Given the description of an element on the screen output the (x, y) to click on. 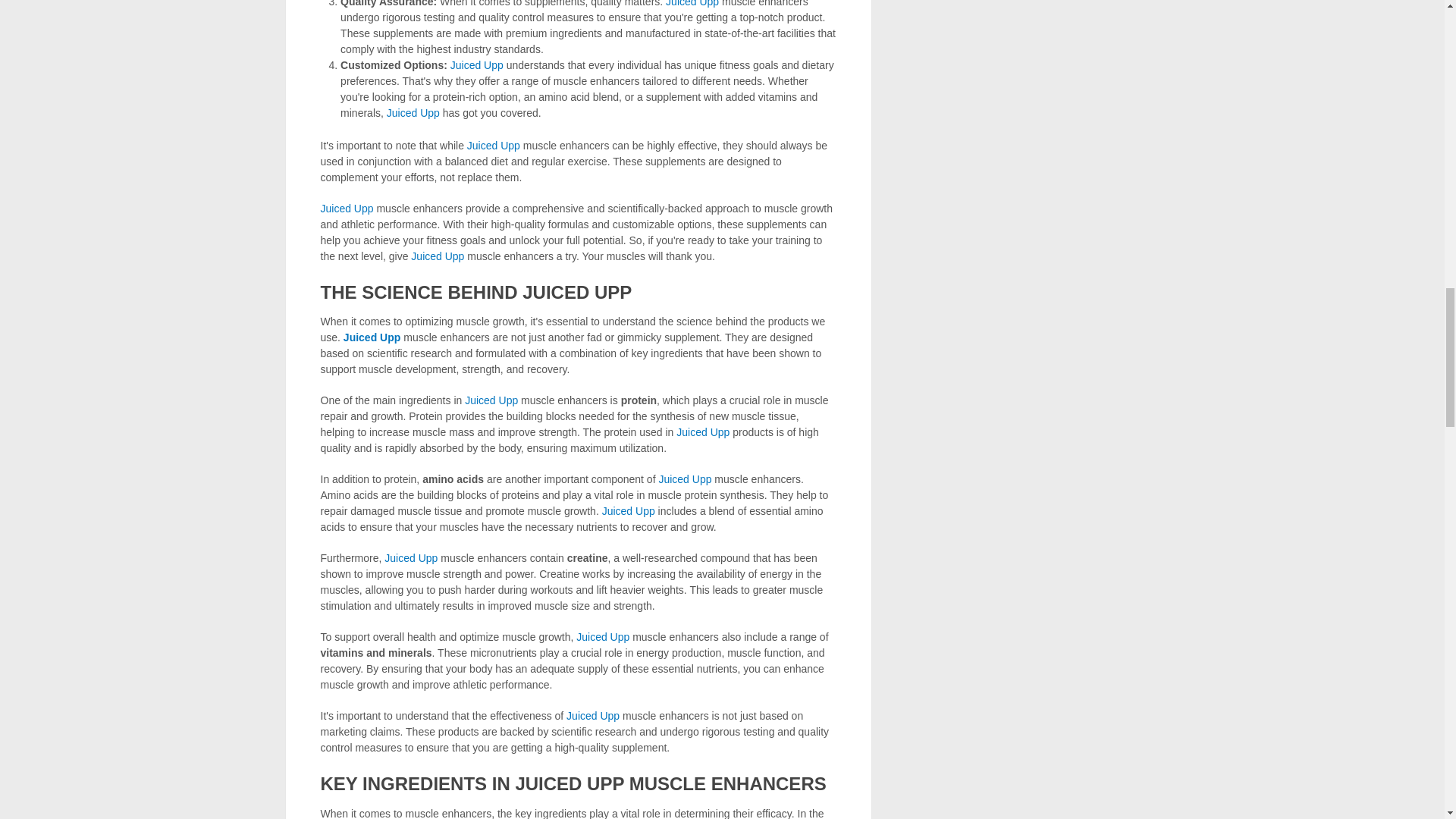
Juiced Upp (437, 256)
Juiced Upp (703, 431)
Juiced Upp (628, 510)
Juiced Upp (491, 399)
Juiced Upp (493, 145)
Juiced Upp (476, 64)
Juiced Upp (411, 558)
Juiced Upp (413, 112)
Juiced Upp (346, 208)
Juiced Upp (692, 3)
